Given the description of an element on the screen output the (x, y) to click on. 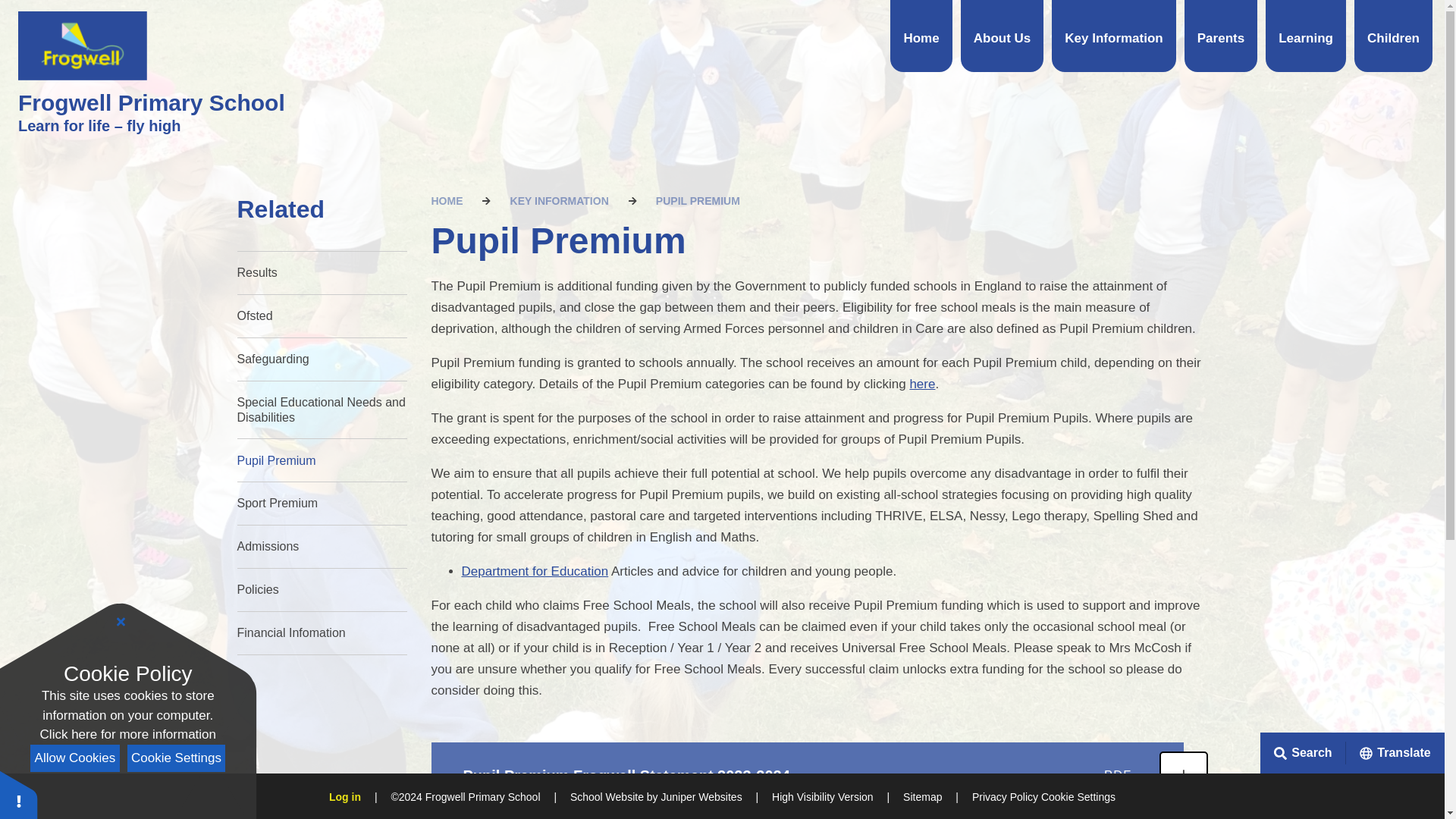
Home (920, 36)
See cookie policy (127, 734)
Cookie Settings (176, 758)
Key Information (1112, 36)
Search (1302, 752)
Cookie Settings (1078, 797)
Allow Cookies (74, 758)
Cookie Settings (18, 794)
About Us (1001, 36)
Search (1415, 752)
